Given the description of an element on the screen output the (x, y) to click on. 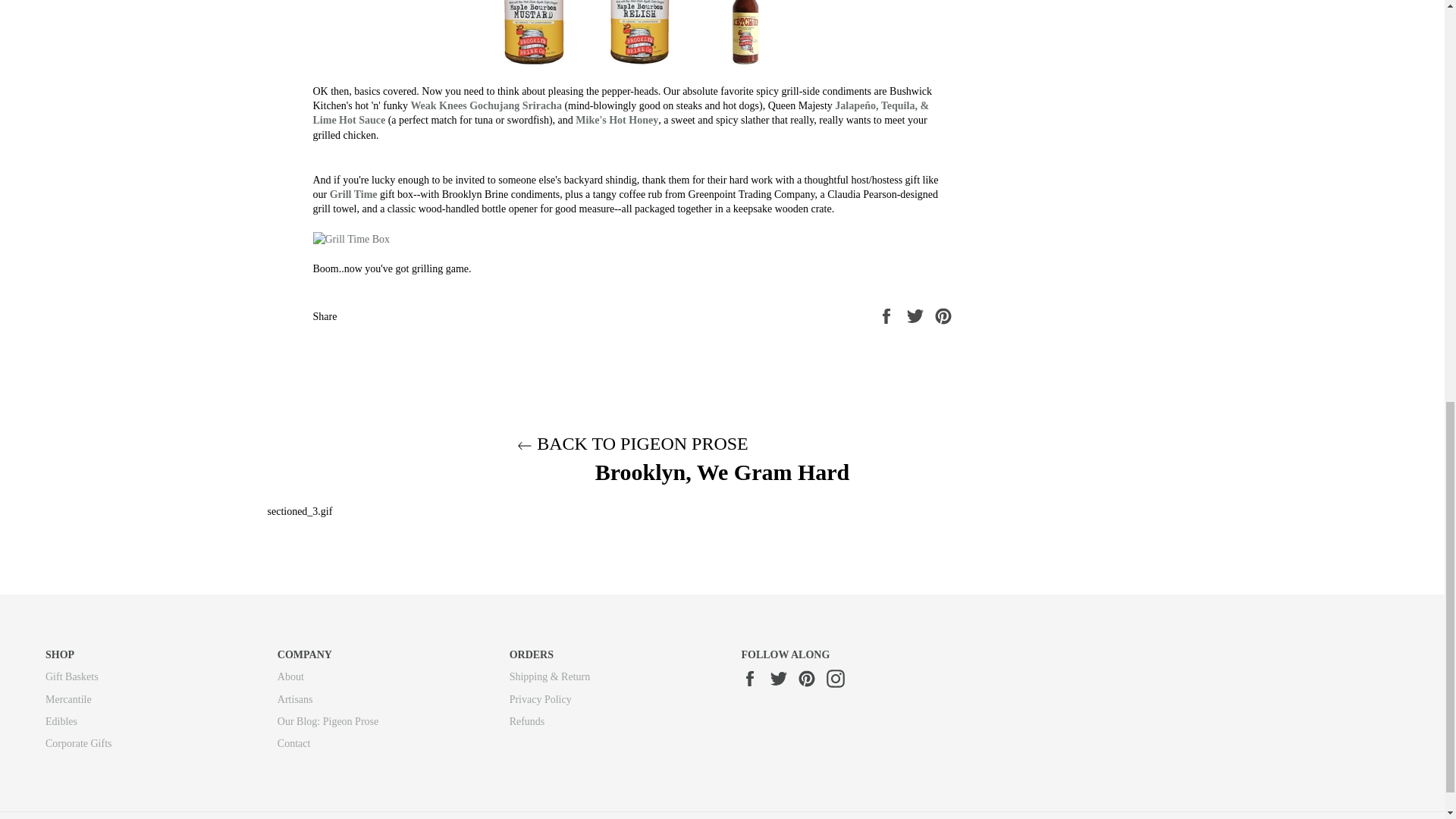
Pin on Pinterest (943, 315)
Weak Knees Gochujang Sriracha (486, 105)
Tequila Hoy Sauce (620, 112)
Grill Time Box (632, 238)
Tweet on Twitter (916, 315)
BACK TO PIGEON PROSE (632, 443)
Grill Time Gift Box (353, 194)
With Love From Brooklyn on Instagram (839, 678)
Mike's Hot Honey (616, 120)
With Love From Brooklyn on Twitter (782, 678)
